Given the description of an element on the screen output the (x, y) to click on. 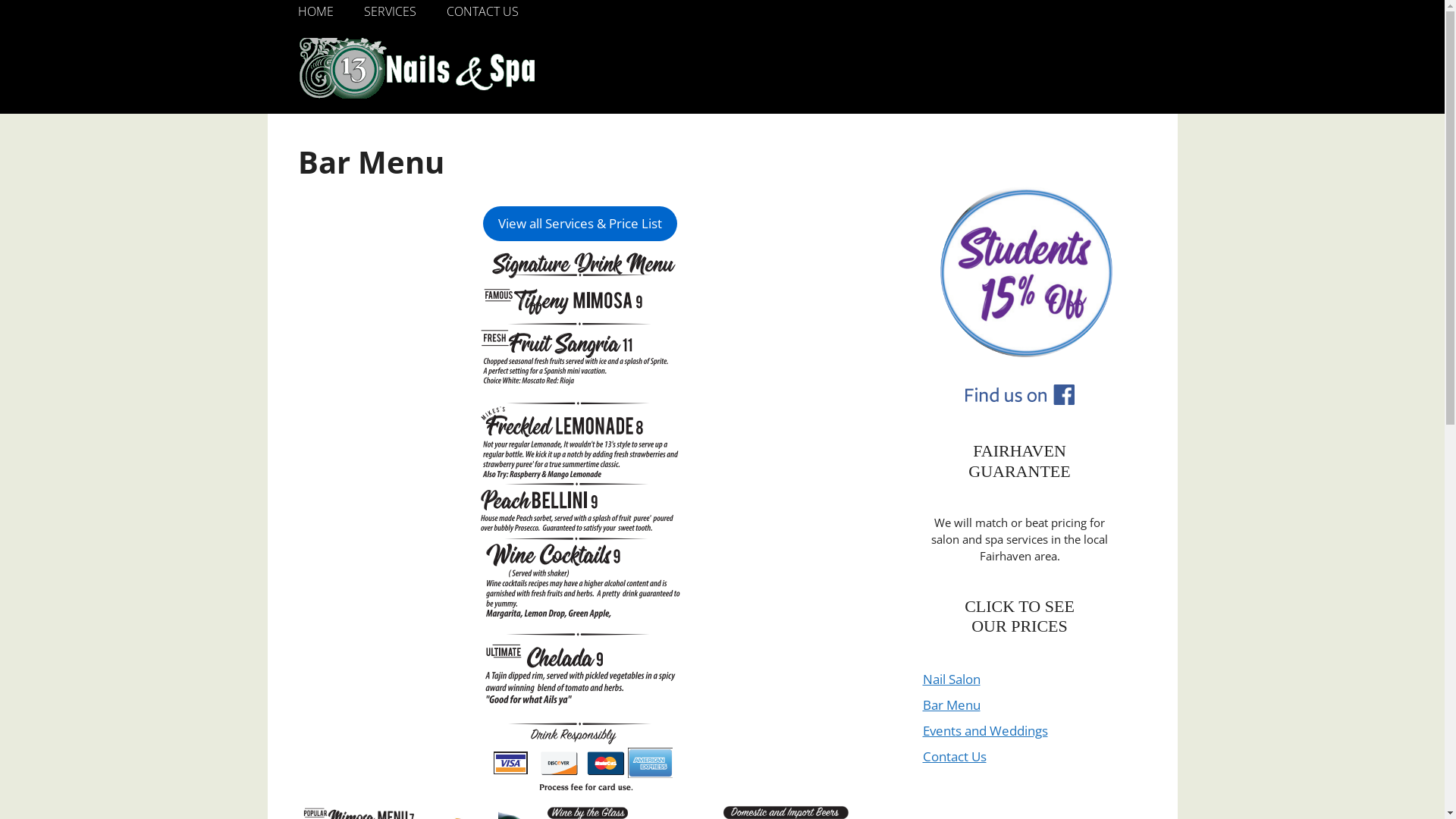
View all Services & Price List Element type: text (579, 223)
Nail Salon Element type: text (950, 678)
HOME Element type: text (315, 11)
SERVICES Element type: text (389, 11)
Events and Weddings Element type: text (984, 730)
CONTACT US Element type: text (481, 11)
Bar Menu Element type: text (950, 704)
Contact Us Element type: text (953, 756)
